Given the description of an element on the screen output the (x, y) to click on. 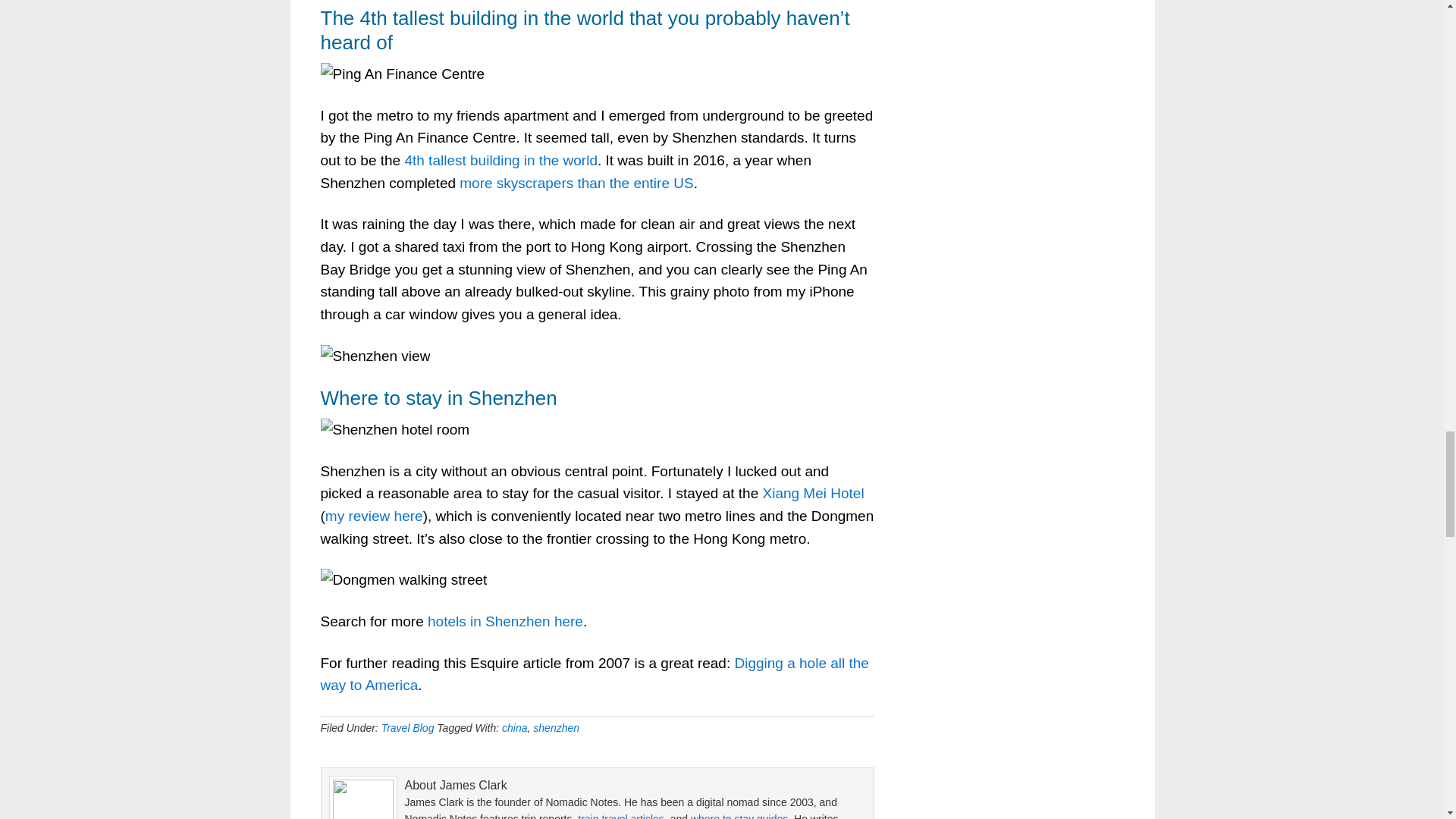
4th tallest building in the world (500, 160)
my review here (373, 515)
where to stay guides (738, 816)
Travel Blog (407, 727)
Xiang Mei Hotel (813, 493)
train travel articles (620, 816)
hotels in Shenzhen here (505, 621)
more skyscrapers than the entire US (576, 182)
Digging a hole all the way to America (593, 674)
shenzhen (555, 727)
